Given the description of an element on the screen output the (x, y) to click on. 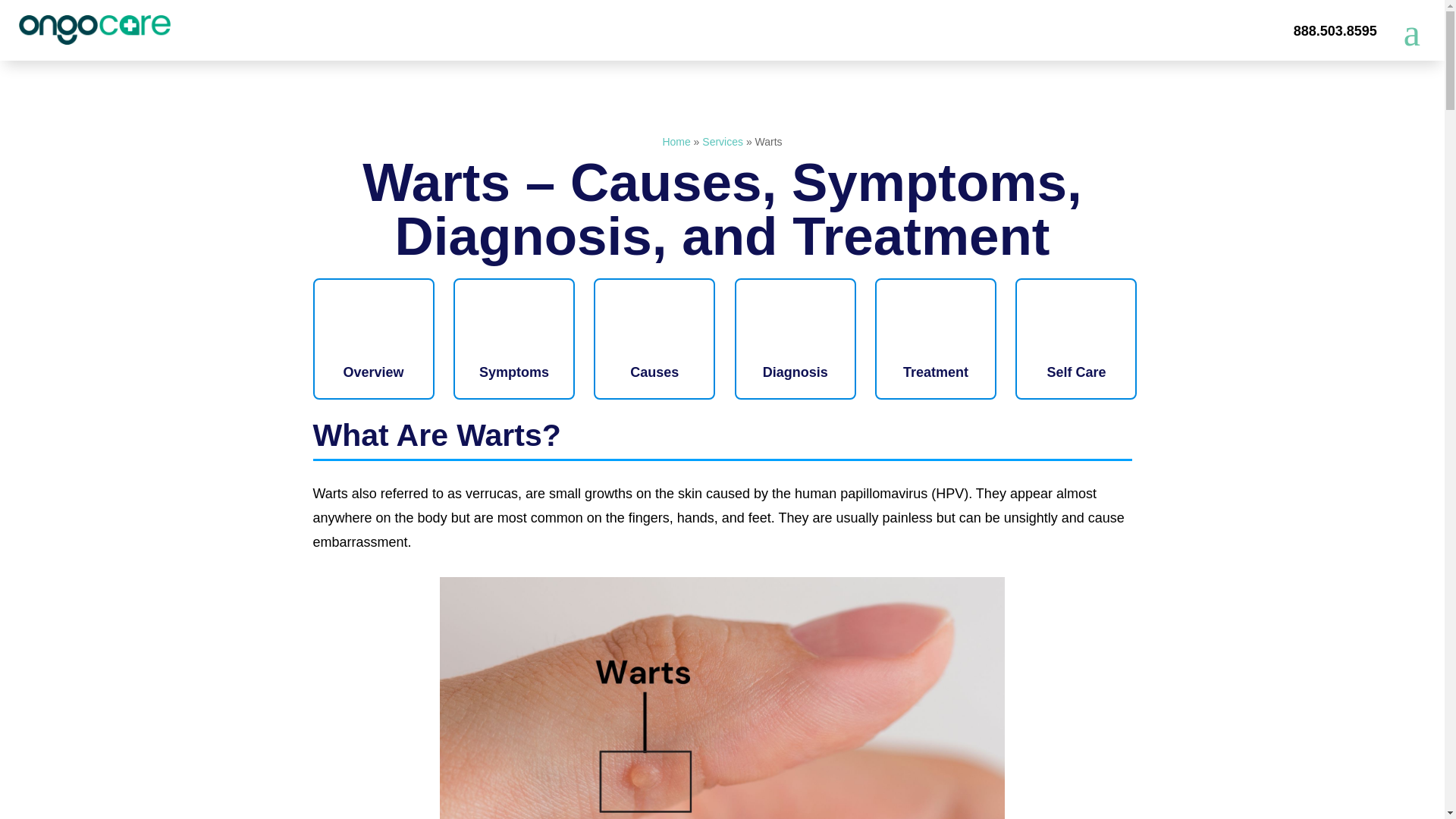
OngoCare logo (94, 30)
Home (676, 141)
Services (721, 141)
